Given the description of an element on the screen output the (x, y) to click on. 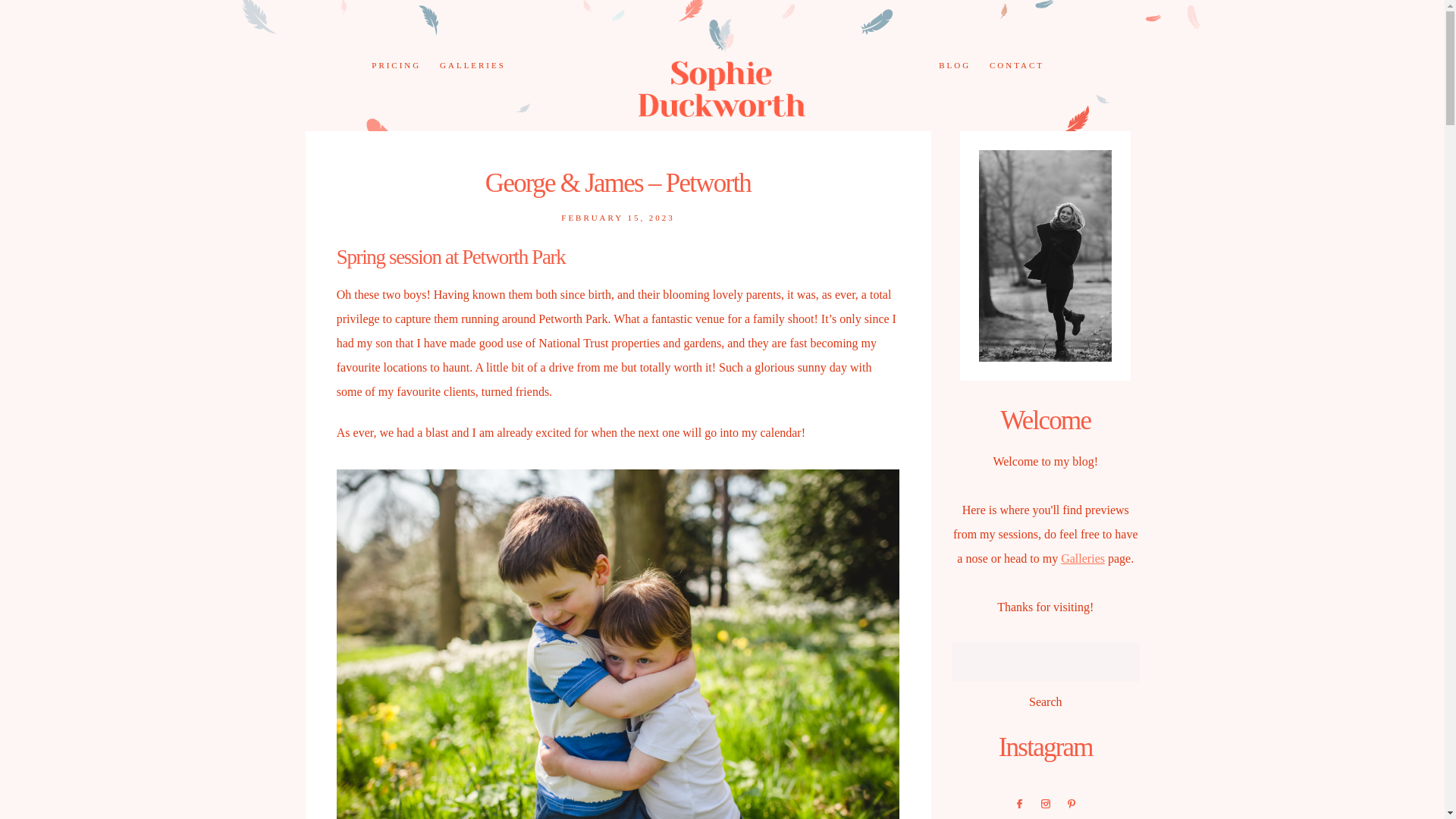
BLOG (955, 64)
GALLERIES (472, 64)
Galleries (1083, 558)
Search (1046, 701)
Search (1046, 701)
PRICING (395, 64)
CONTACT (1016, 64)
